Given the description of an element on the screen output the (x, y) to click on. 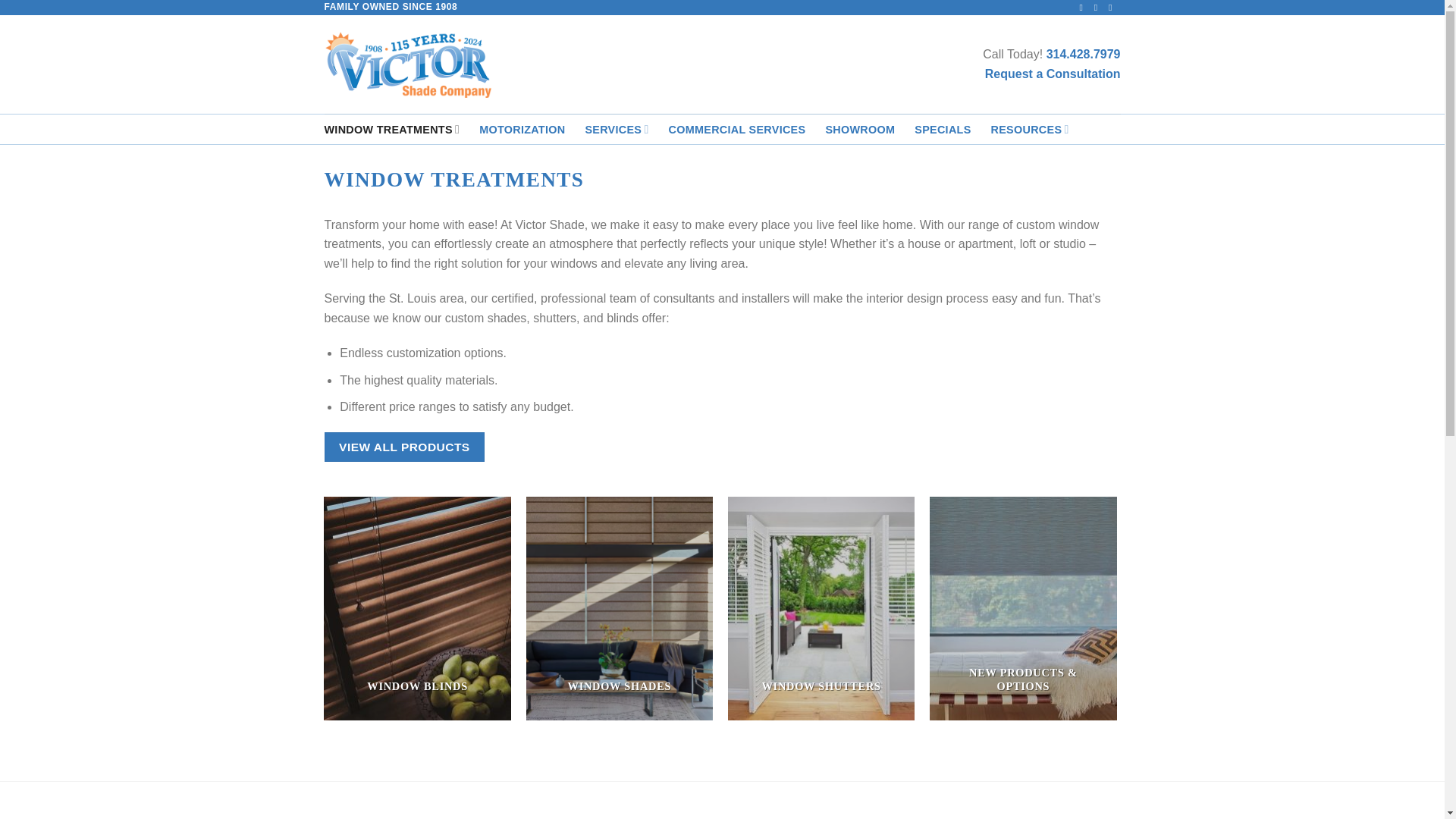
SPECIALS (942, 129)
314.428.7979 (1083, 53)
COMMERCIAL SERVICES (737, 129)
RESOURCES (1029, 129)
Request a Consultation (1053, 73)
WINDOW TREATMENTS (392, 129)
SERVICES (616, 129)
MOTORIZATION (521, 129)
Victor Shade - Family Owned Since 1906 (408, 64)
SHOWROOM (860, 129)
